Given the description of an element on the screen output the (x, y) to click on. 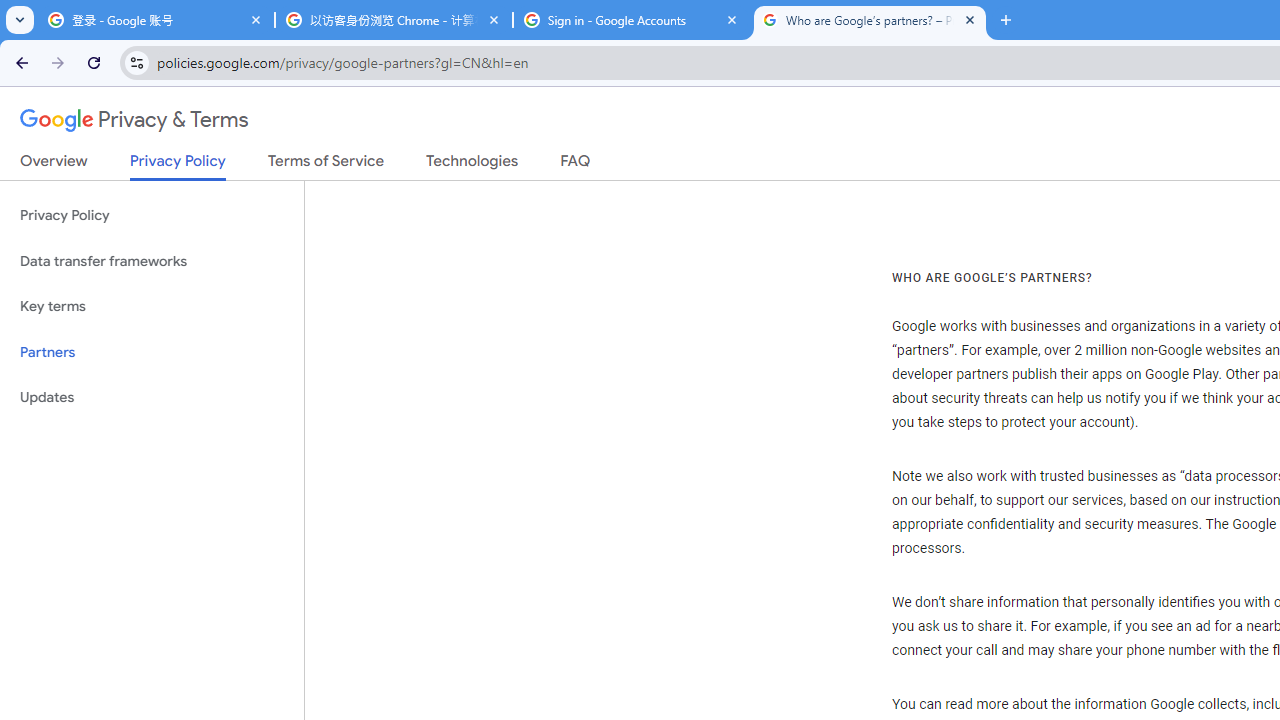
Sign in - Google Accounts (632, 20)
